Given the description of an element on the screen output the (x, y) to click on. 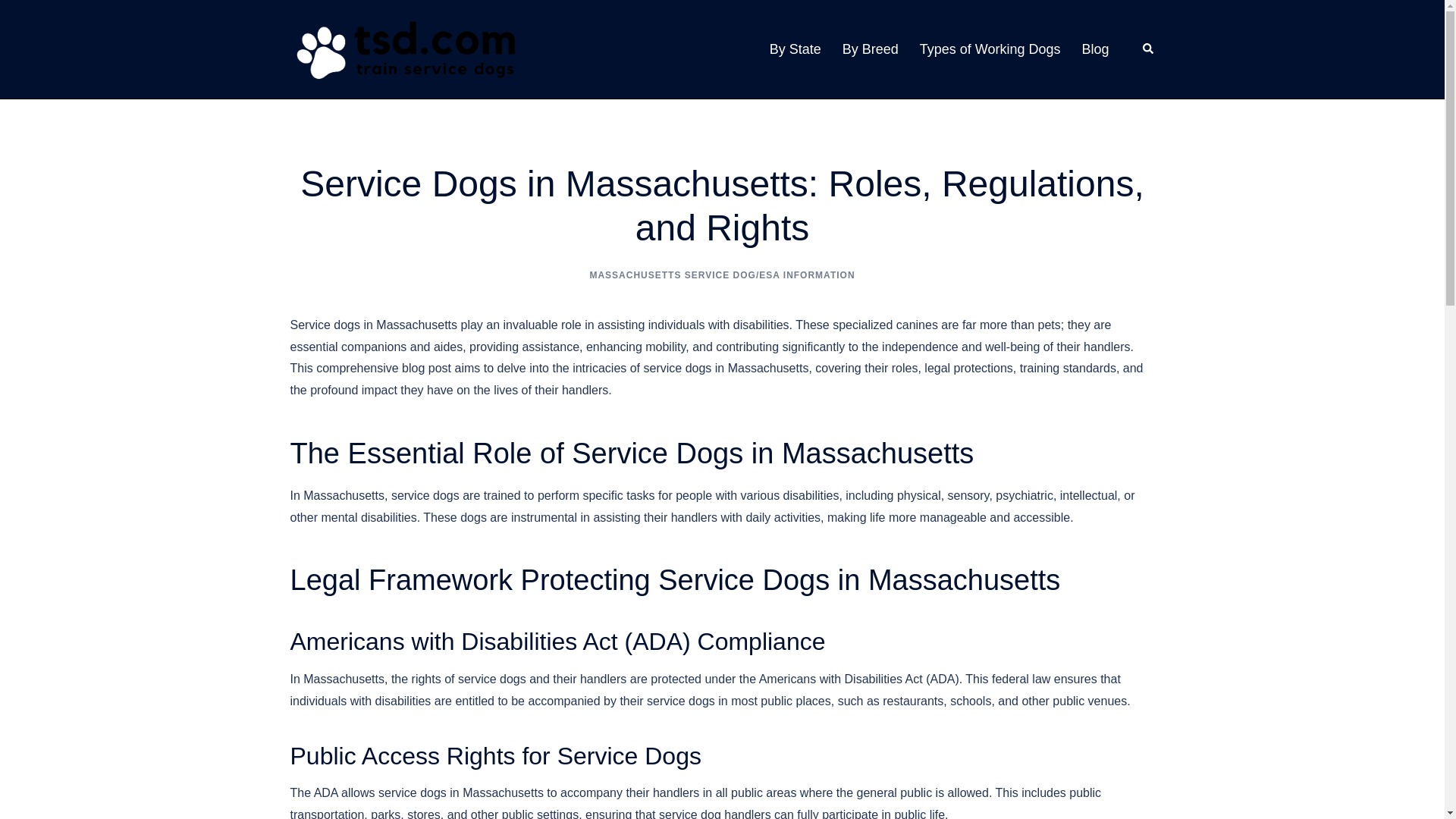
Blog (1094, 48)
Search (1147, 49)
By Breed (870, 48)
TrainServiceDogs.com (402, 47)
Types of Working Dogs (990, 48)
By State (795, 48)
